Given the description of an element on the screen output the (x, y) to click on. 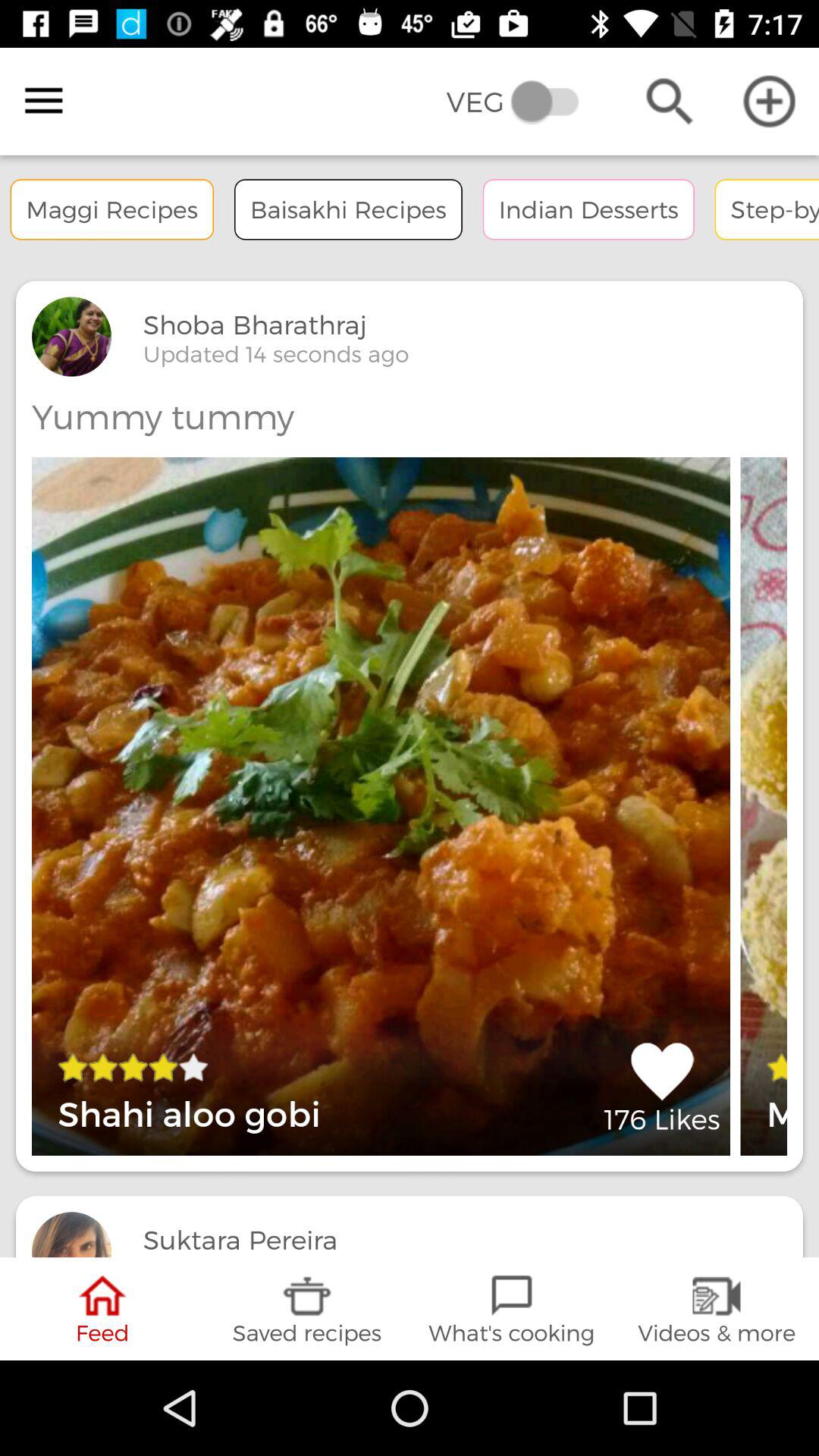
choose the icon below indian desserts (662, 1087)
